Given the description of an element on the screen output the (x, y) to click on. 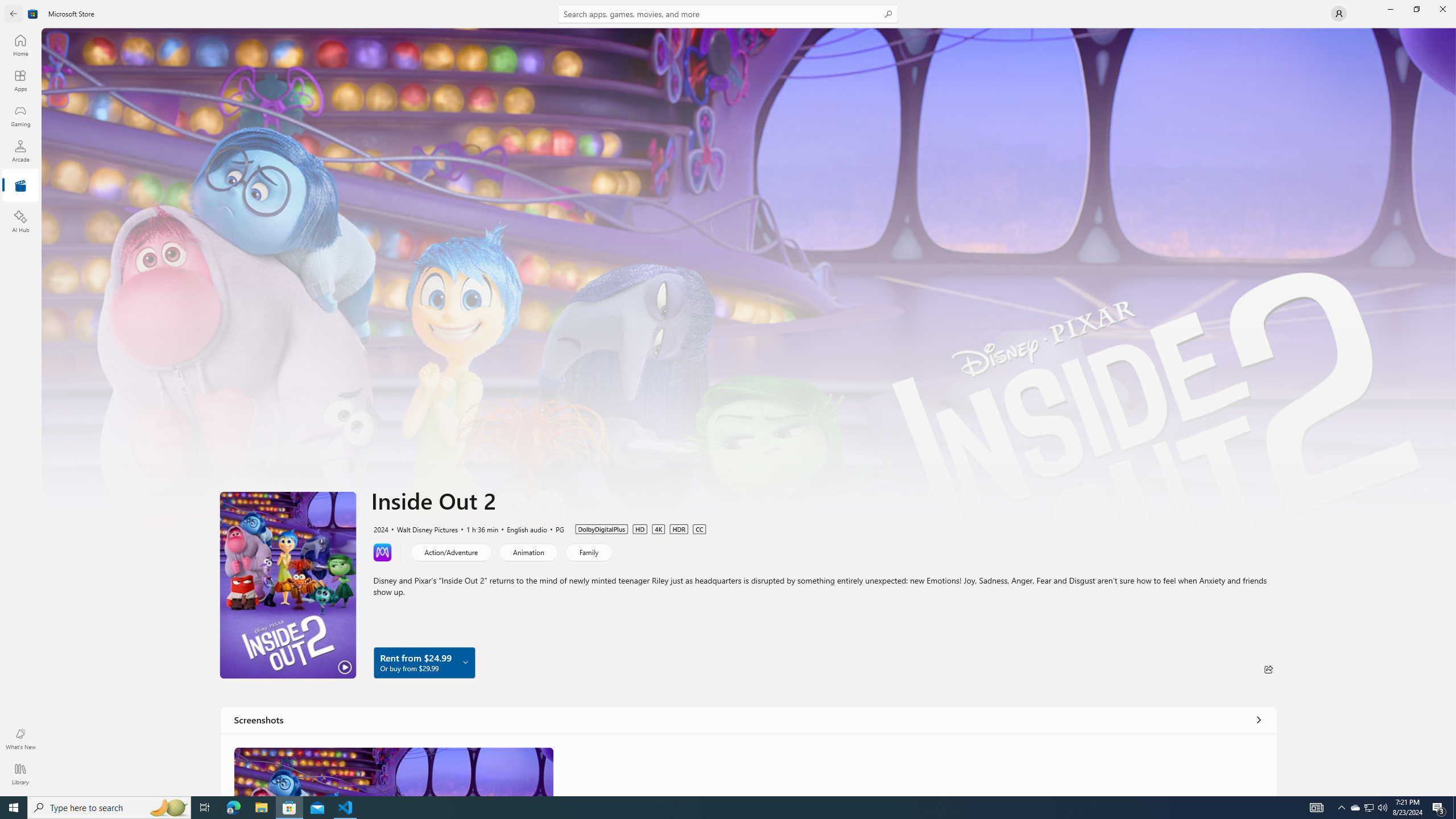
See all (1258, 719)
Action/Adventure (451, 551)
Rent from $24.99 Or buy from $29.99 (424, 662)
AutomationID: NavigationControl (728, 398)
1 h 36 min (477, 528)
Family (587, 551)
English audio (521, 528)
Back (13, 13)
